Given the description of an element on the screen output the (x, y) to click on. 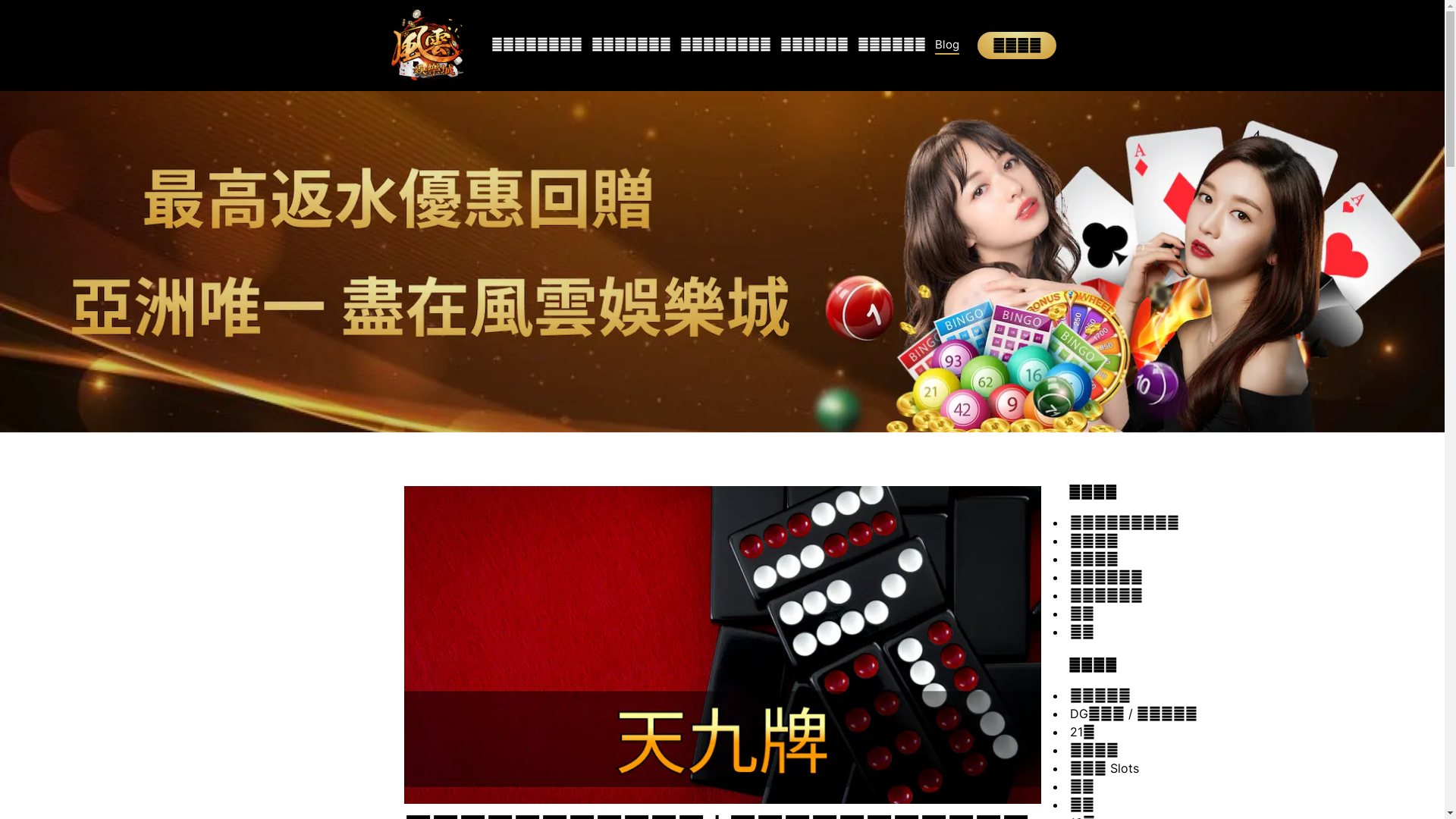
Blog Element type: text (946, 45)
